Given the description of an element on the screen output the (x, y) to click on. 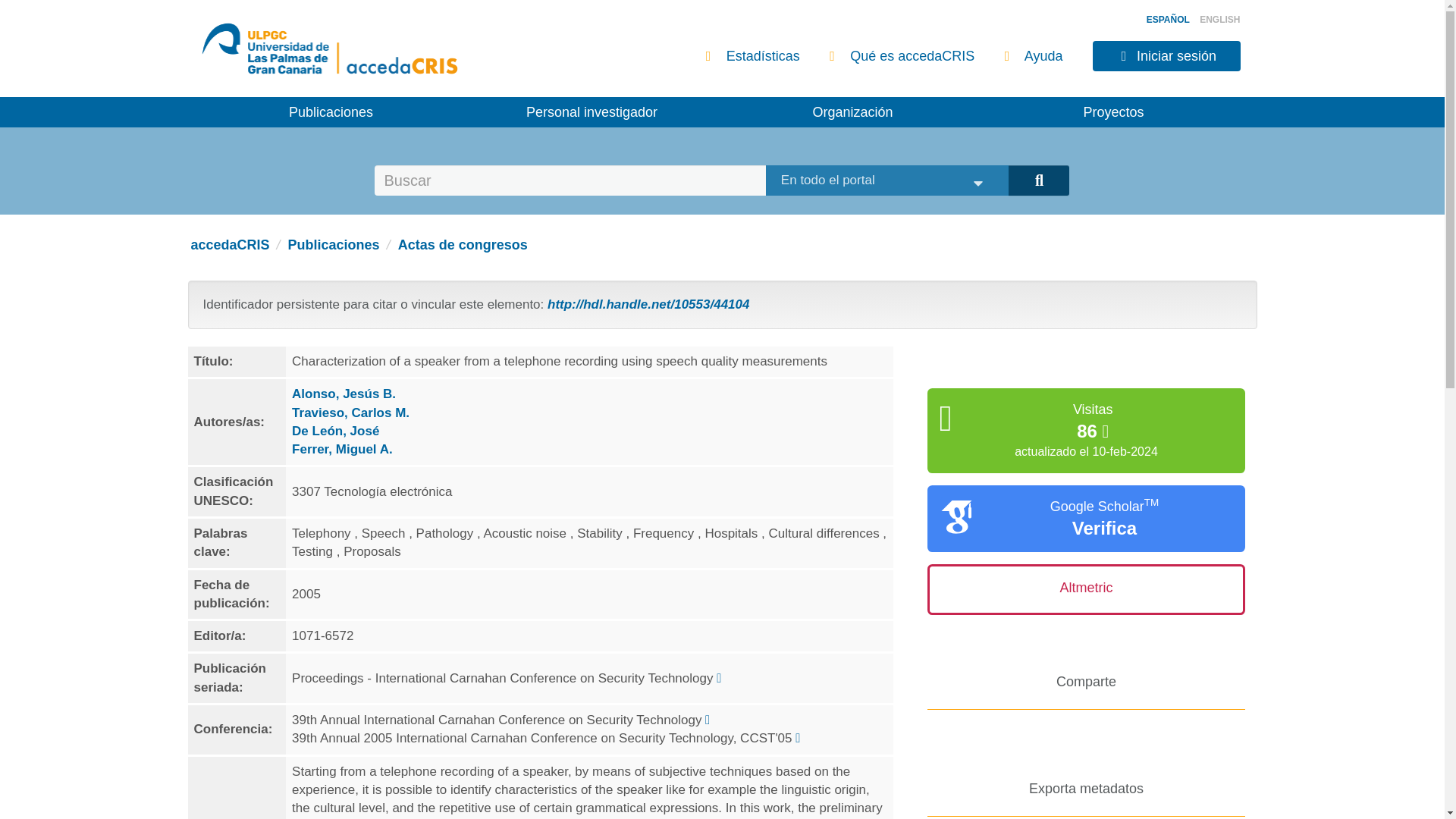
Proyectos (1112, 112)
Ferrer, Miguel A. (342, 449)
Inicio web institucional de la ULPGC (260, 56)
Travieso, Carlos M. (350, 412)
ENGLISH (1219, 19)
Verifica (1104, 527)
Inicio web Accedacris (403, 56)
Personal investigador (591, 112)
Ayuda (1033, 55)
Actas de congresos (462, 244)
